Given the description of an element on the screen output the (x, y) to click on. 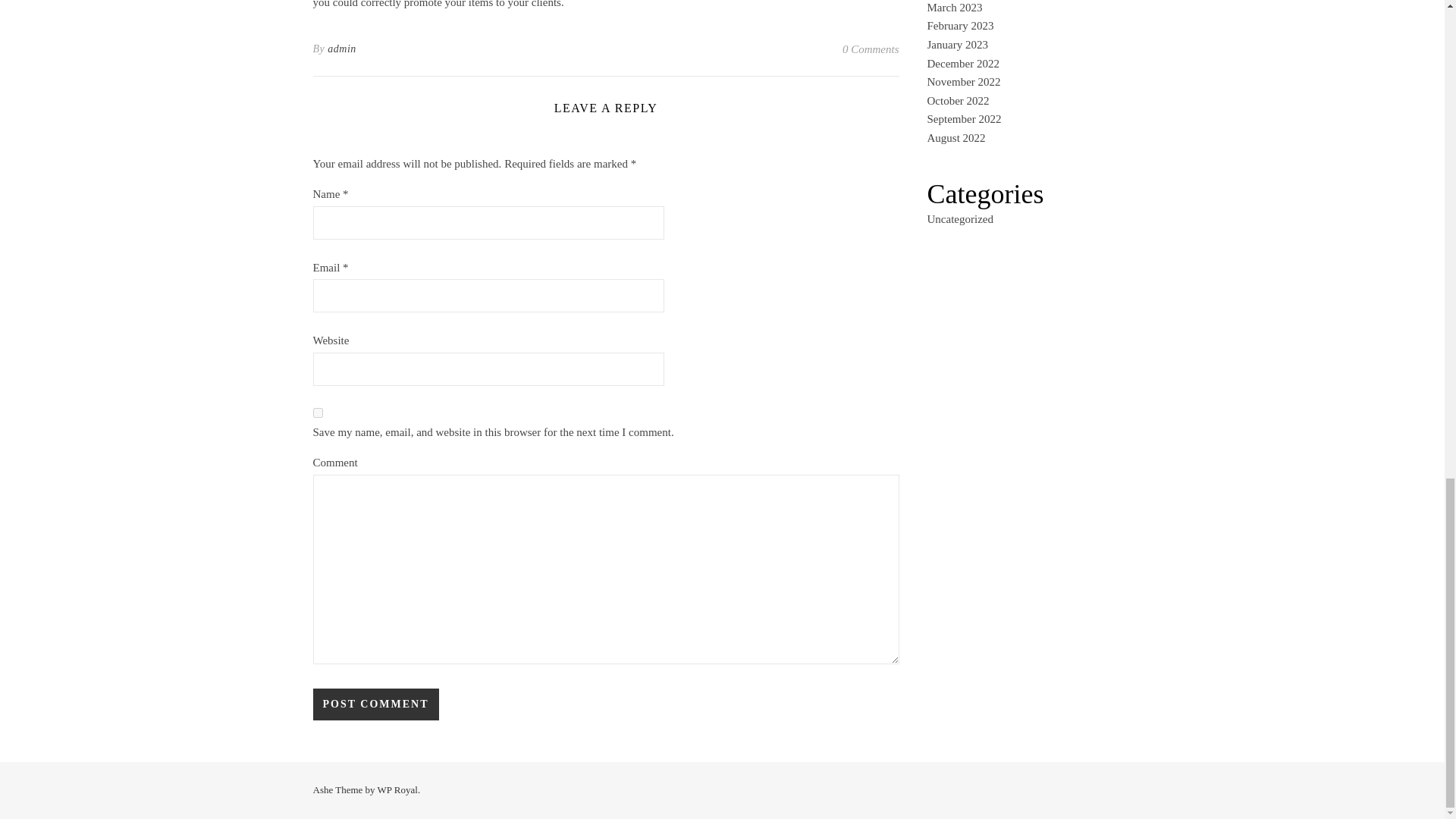
August 2022 (955, 137)
yes (317, 412)
Post Comment (375, 704)
November 2022 (963, 81)
January 2023 (956, 44)
September 2022 (963, 119)
March 2023 (953, 7)
Posts by admin (341, 48)
0 Comments (871, 48)
October 2022 (957, 101)
February 2023 (959, 25)
admin (341, 48)
Post Comment (375, 704)
December 2022 (962, 63)
